Given the description of an element on the screen output the (x, y) to click on. 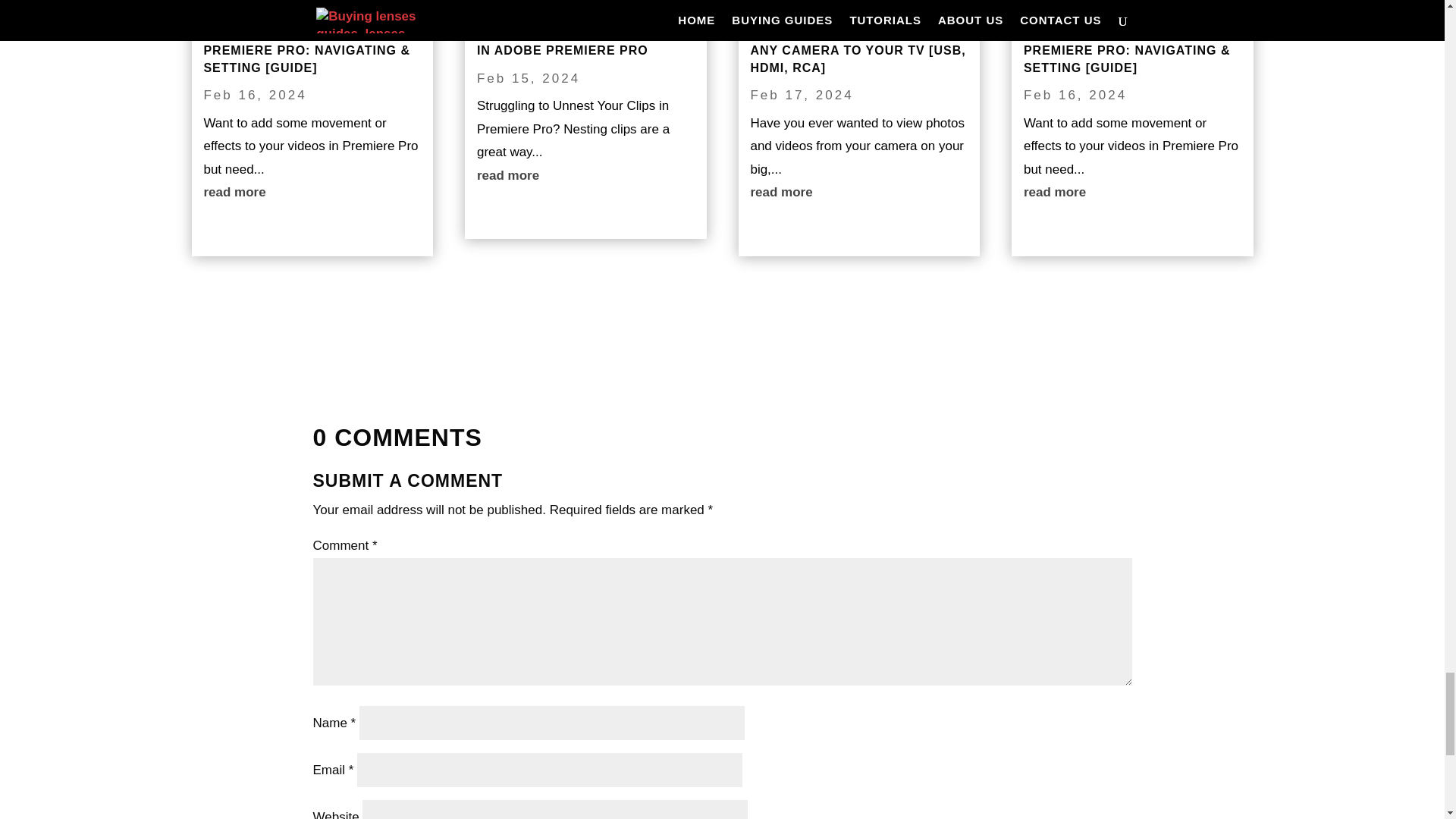
read more (311, 192)
HOW TO UN-NEST A SEQUENCE IN ADOBE PREMIERE PRO (581, 41)
read more (585, 176)
